Given the description of an element on the screen output the (x, y) to click on. 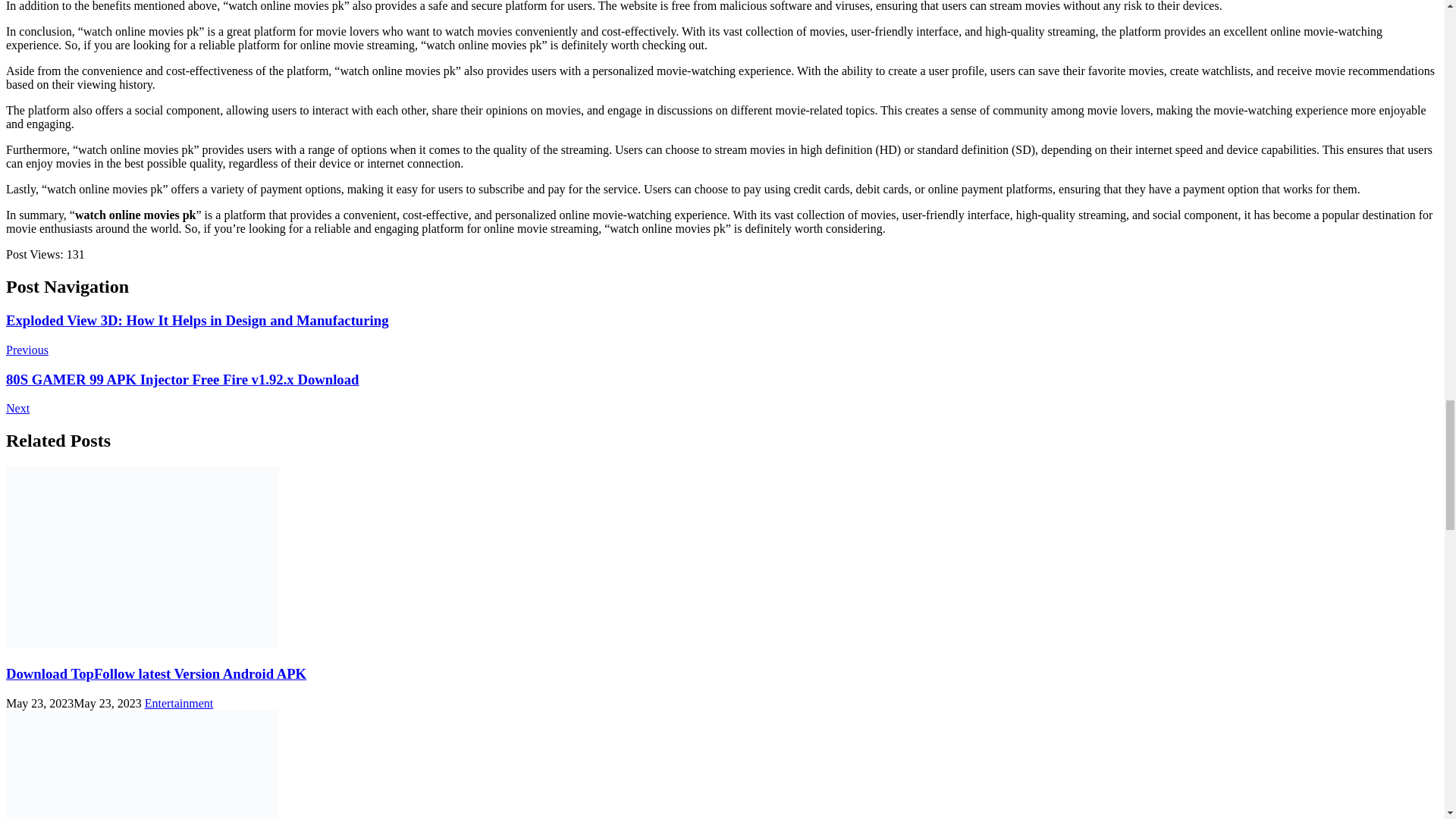
Download TopFollow latest Version Android APK 2 (142, 557)
Celebrating the Iconic Actors and Actresses of Our Time 3 (142, 764)
